Given the description of an element on the screen output the (x, y) to click on. 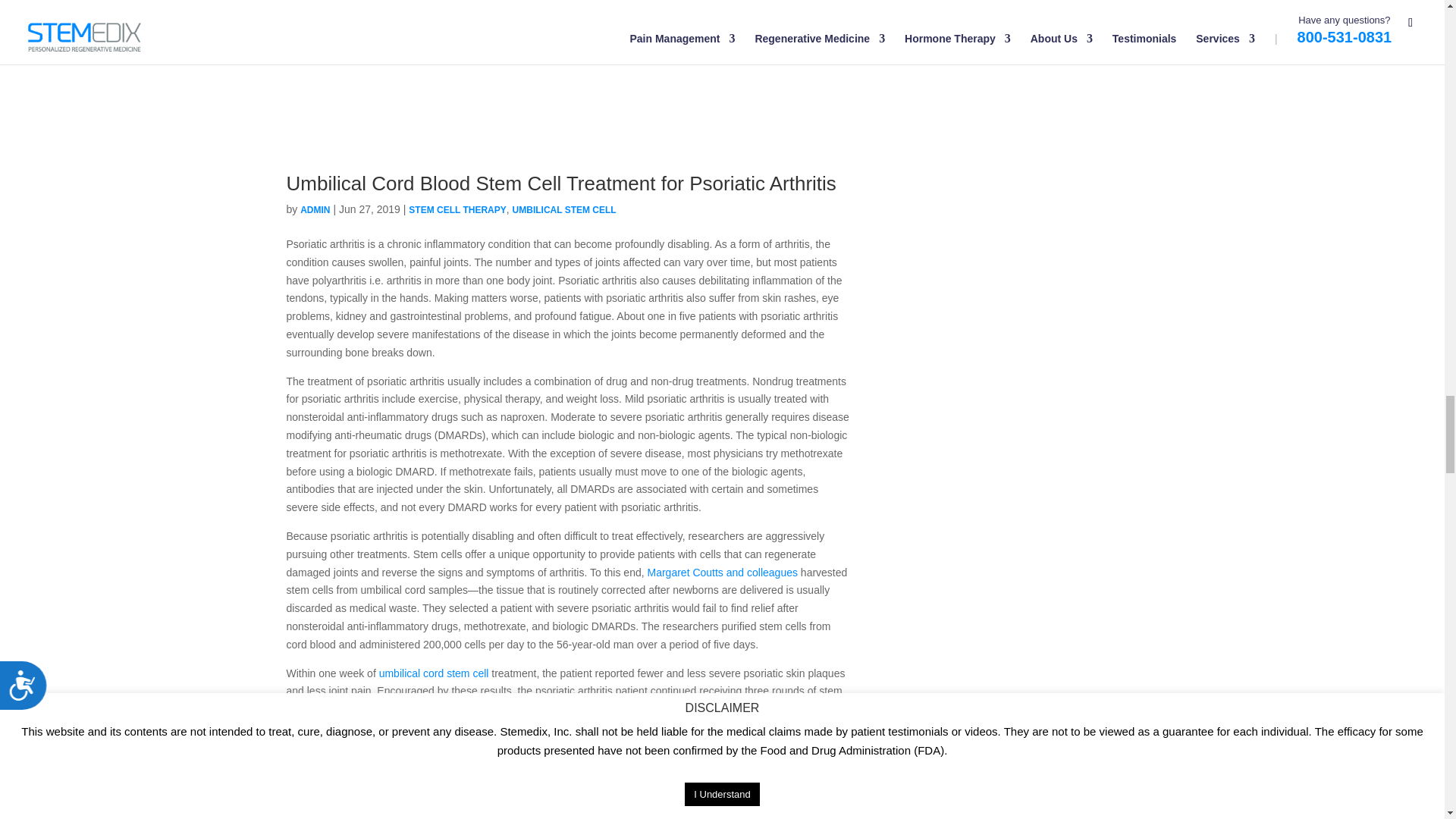
Posts by admin (314, 209)
